Given the description of an element on the screen output the (x, y) to click on. 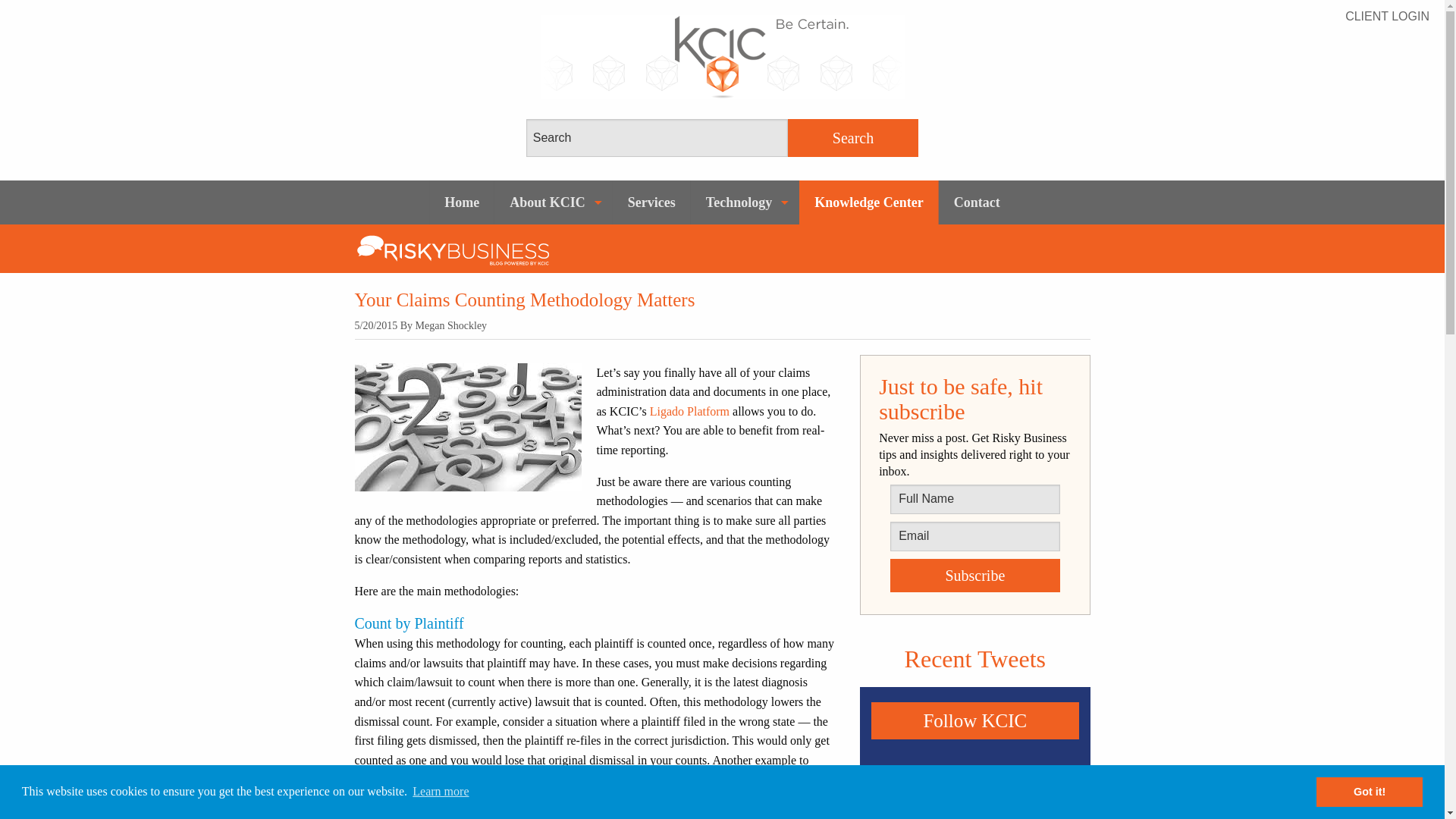
Search (852, 137)
Technology (744, 202)
Follow KCIC (974, 720)
Home (462, 202)
Learn more (440, 791)
Contact (976, 202)
Search (852, 137)
Ligado Platform (689, 410)
Subscribe (974, 575)
Knowledge Center (868, 202)
CLIENT LOGIN (1387, 16)
About KCIC (553, 202)
Got it! (1369, 791)
Services (651, 202)
Subscribe (974, 575)
